Given the description of an element on the screen output the (x, y) to click on. 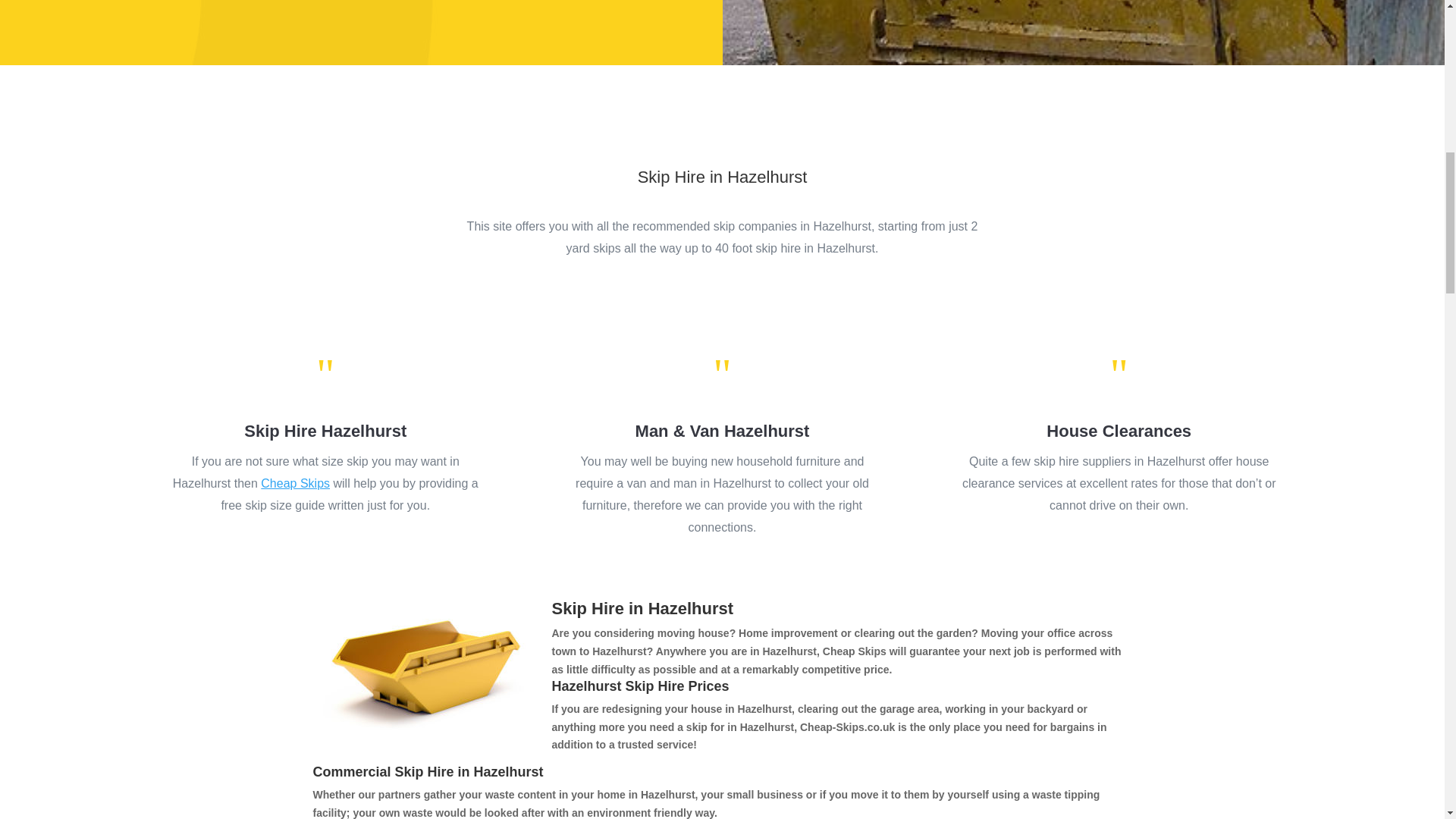
Cheap Skips (295, 482)
Cheap Skips in Hazelhurst (426, 671)
